Given the description of an element on the screen output the (x, y) to click on. 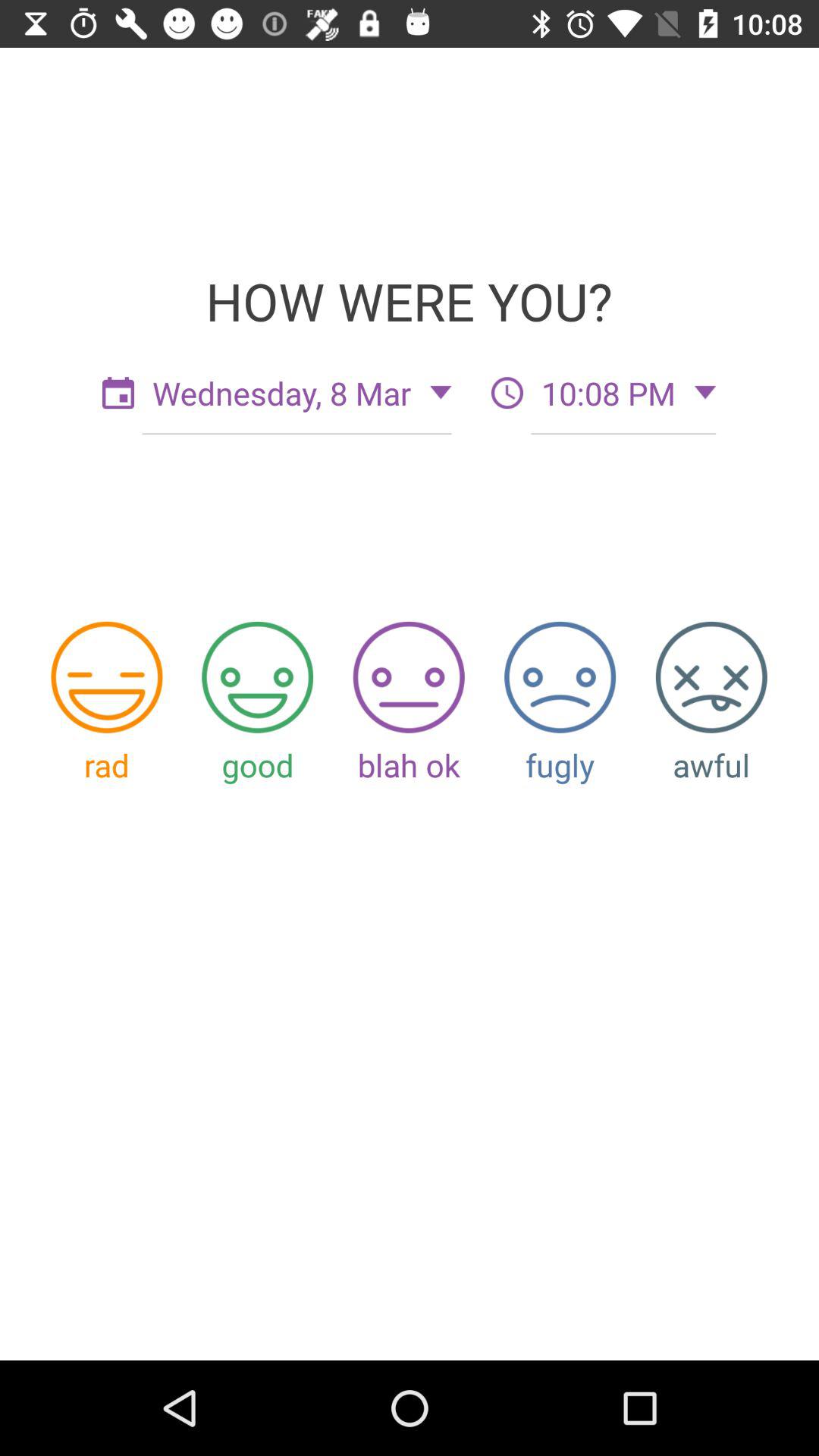
select fugly (559, 677)
